Given the description of an element on the screen output the (x, y) to click on. 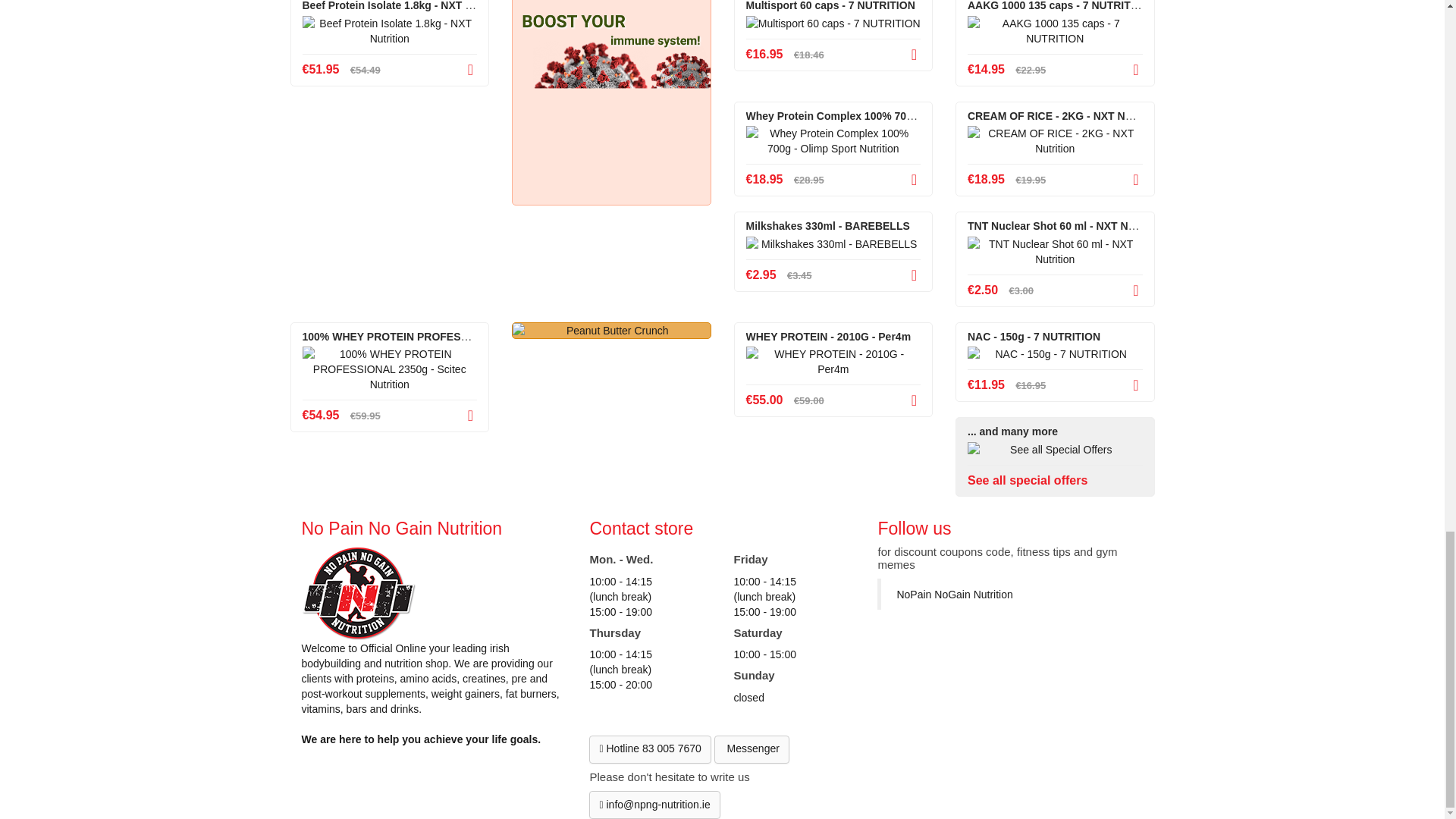
Boost your immune system (611, 101)
Milkshakes 330ml - BAREBELLS (833, 243)
Multisport 60 caps - 7 NUTRITION (833, 23)
Beef Protein Isolate 1.8kg - NXT Nutrition (389, 30)
AAKG 1000 135 caps - 7 NUTRITION (1055, 30)
CREAM OF RICE - 2KG - NXT Nutrition (1055, 141)
